Given the description of an element on the screen output the (x, y) to click on. 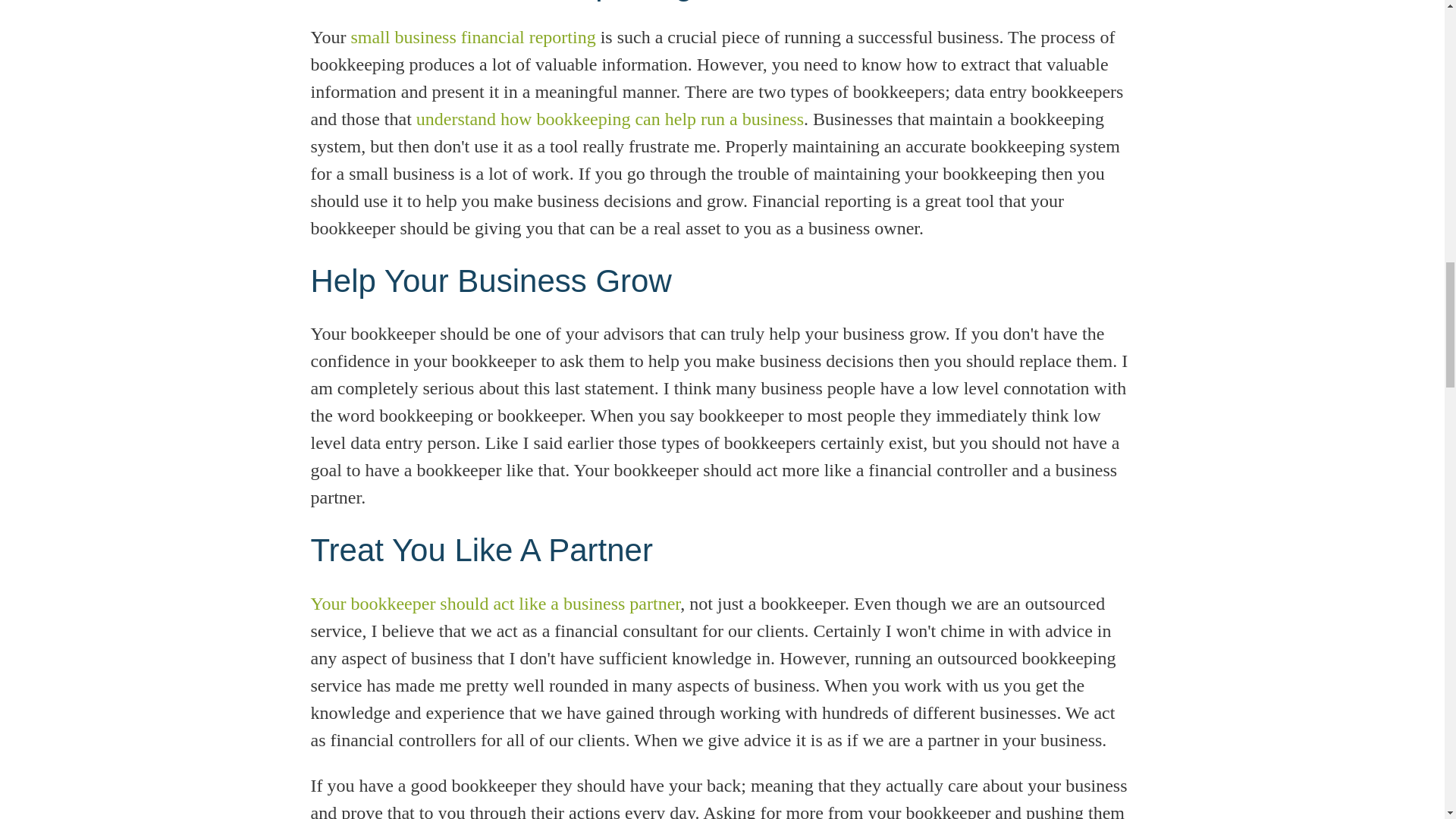
Your bookkeeper should act like a business partner (496, 602)
small business financial reporting (472, 36)
small business financial reporting (472, 36)
understand how bookkeeping can help run a business (609, 118)
understand how bookkeeping can help run a business (609, 118)
Your bookkeeper should act like a business partner (496, 602)
